Given the description of an element on the screen output the (x, y) to click on. 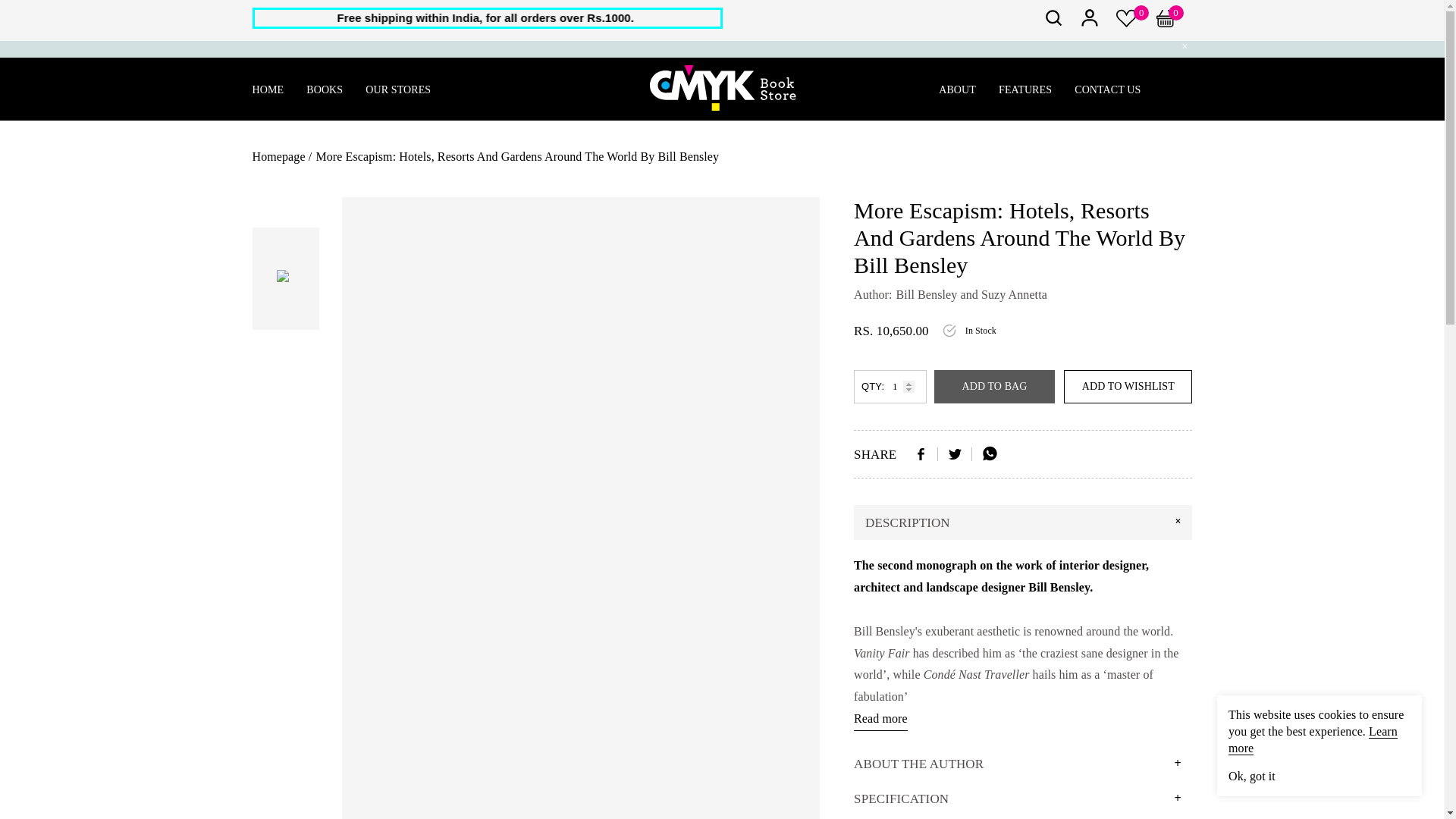
0 (1126, 23)
HOME (267, 89)
BOOKS (323, 89)
0 (1174, 23)
1 (889, 386)
